Given the description of an element on the screen output the (x, y) to click on. 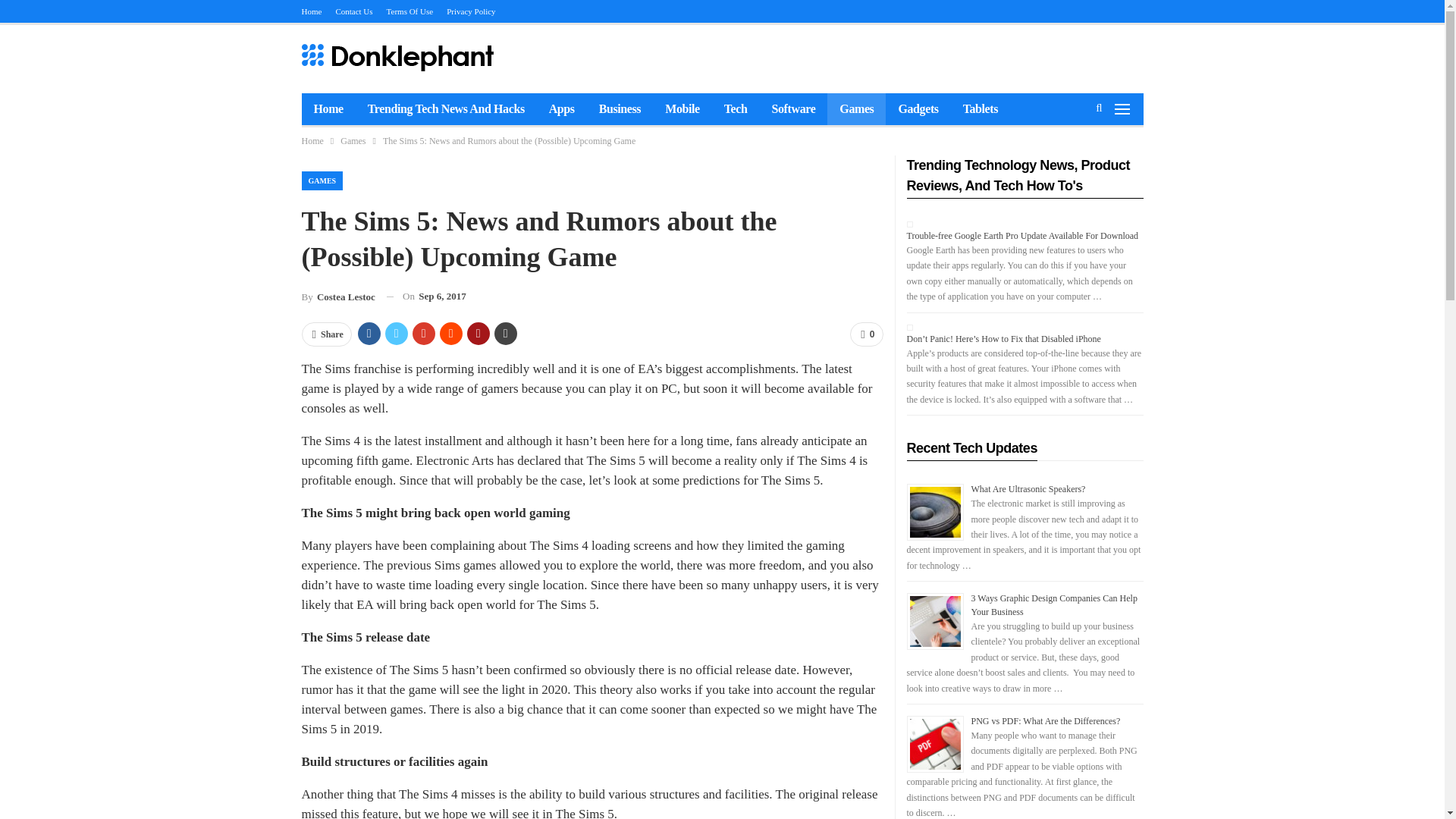
Games (352, 140)
Mobile (681, 109)
Home (312, 140)
Tech (735, 109)
By Costea Lestoc (338, 296)
Gadgets (917, 109)
Tablets (980, 109)
Privacy Policy (470, 10)
Business (619, 109)
Apps (561, 109)
